Given the description of an element on the screen output the (x, y) to click on. 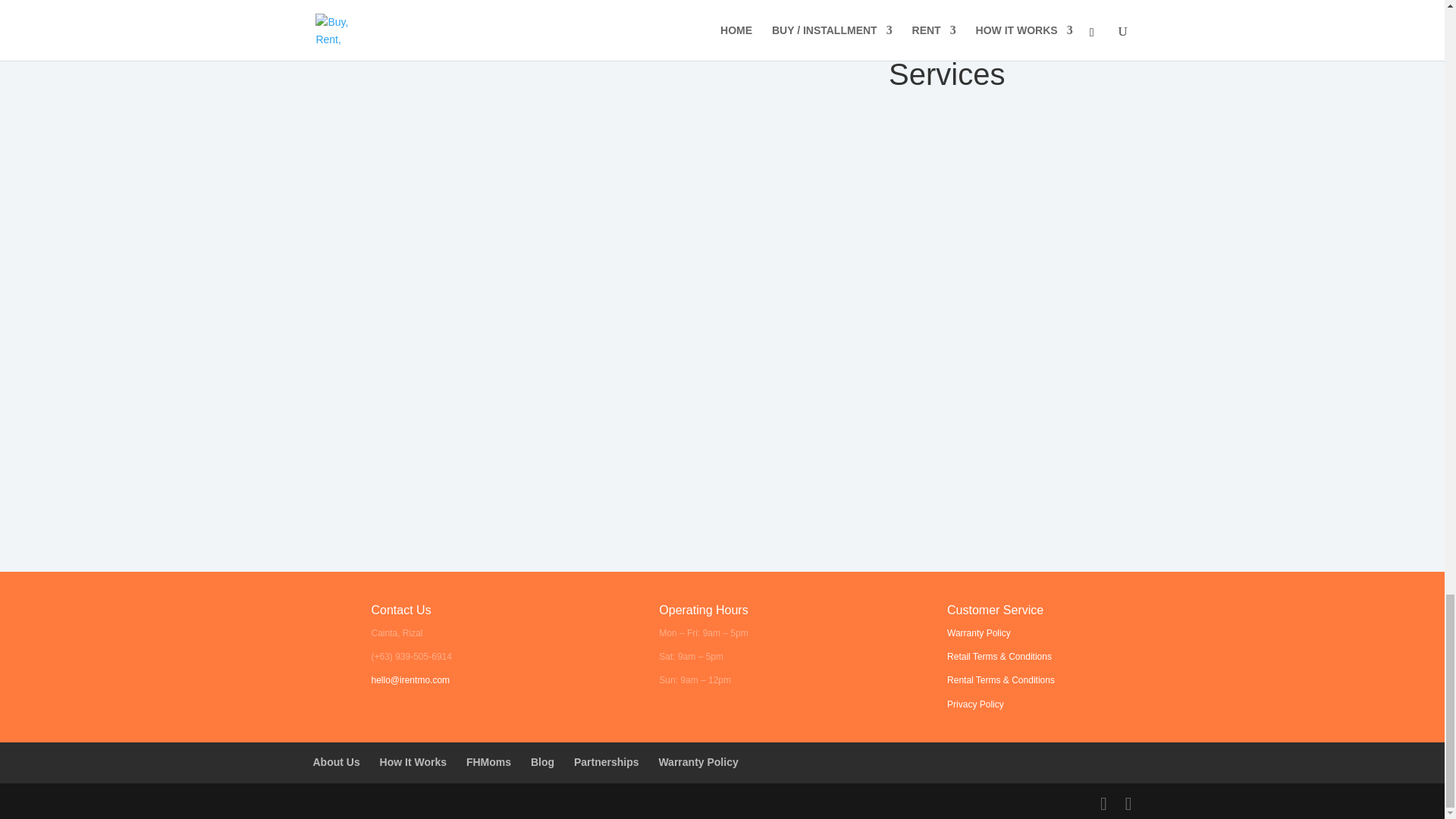
About Us (336, 761)
Blog (542, 761)
Warranty Policy (698, 761)
FHMoms (488, 761)
Warranty Policy (978, 633)
How It Works (413, 761)
Partnerships (606, 761)
Privacy Policy (975, 704)
